Given the description of an element on the screen output the (x, y) to click on. 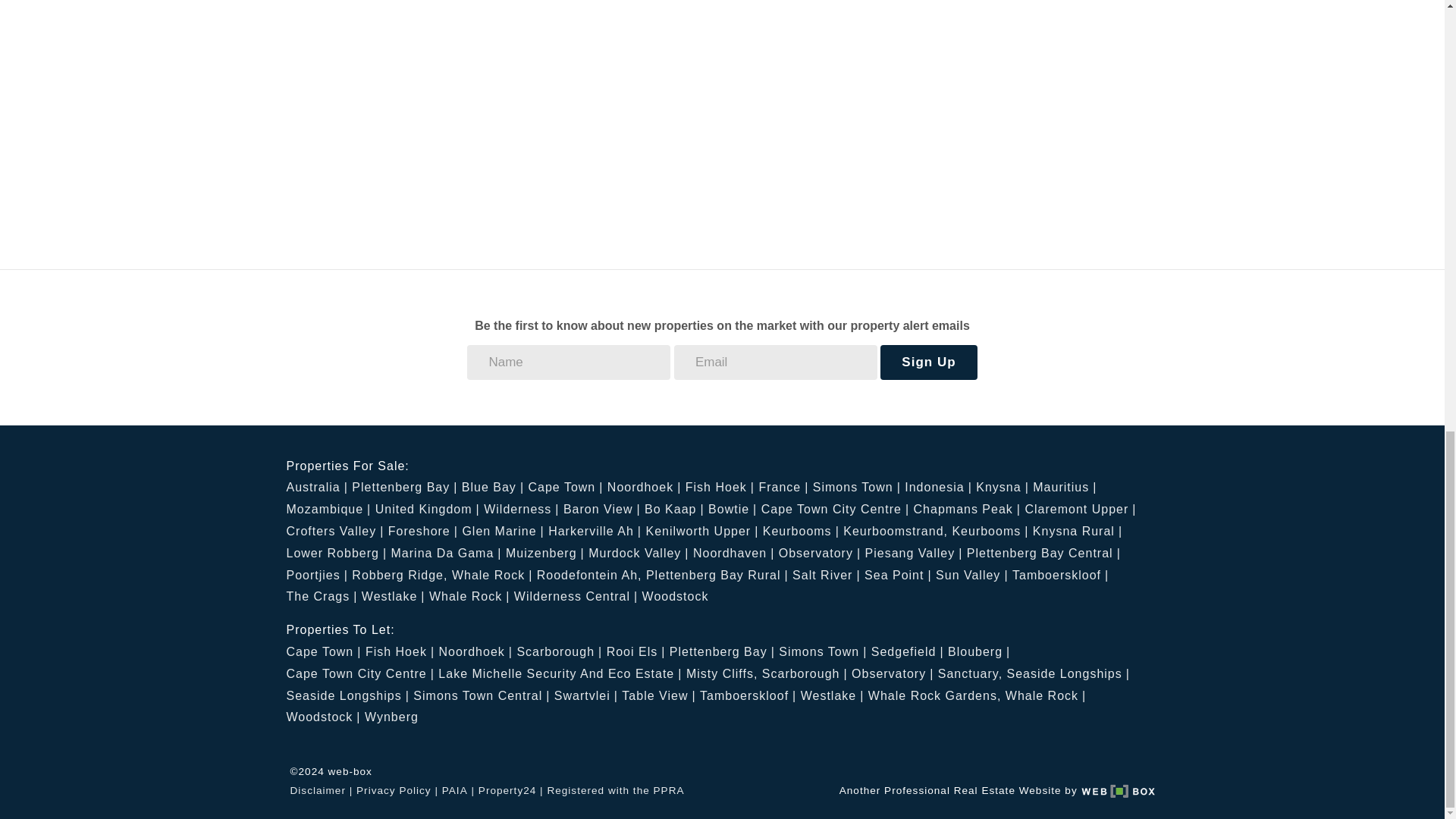
Properties for sale in Indonesia (938, 486)
Properties for sale in Blue Bay (492, 486)
Properties for sale in Baron View, Plettenberg Bay (601, 508)
Properties for sale in Mauritius (1064, 486)
Properties for sale in Cape Town (564, 486)
Properties for sale in Simons Town (856, 486)
Properties for sale in Knysna (1002, 486)
Properties for sale in Australia (316, 486)
Properties for sale in Mozambique (328, 508)
Properties for sale in Plettenberg Bay (404, 486)
Properties for sale in Bo Kaap, Cape Town (674, 508)
Properties for sale in Fish Hoek (719, 486)
Properties for sale in France (783, 486)
Properties for sale in Noordhoek (644, 486)
Properties for sale in United Kingdom (427, 508)
